Given the description of an element on the screen output the (x, y) to click on. 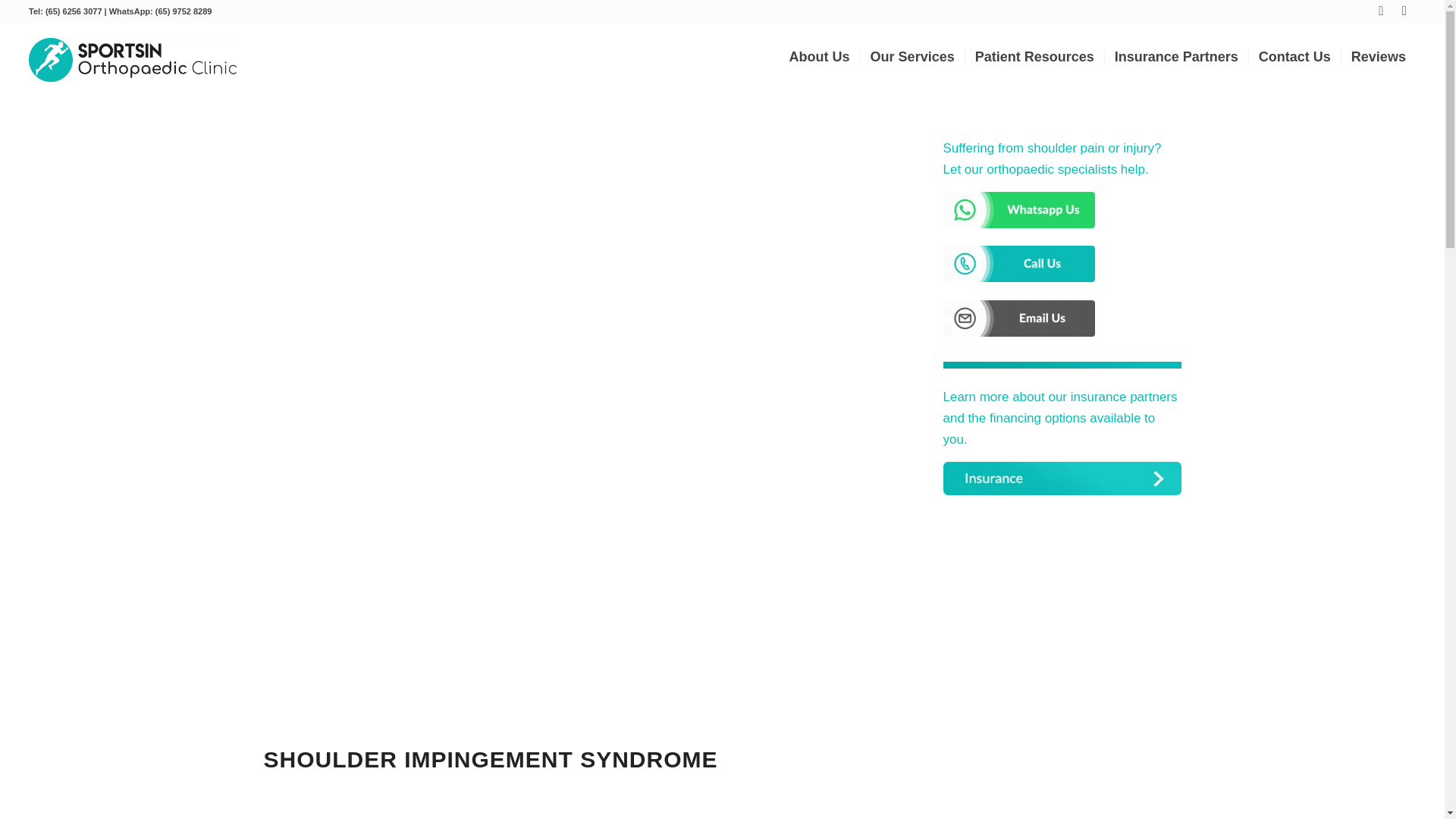
Facebook (1380, 11)
Our Services (911, 56)
Patient Resources (1033, 56)
SportsIn Ortho Logo (132, 59)
About Us (819, 56)
Contact Us (1293, 56)
Insurance Partners (1175, 56)
Reviews (1377, 56)
Youtube (1404, 11)
About Us (819, 56)
